Given the description of an element on the screen output the (x, y) to click on. 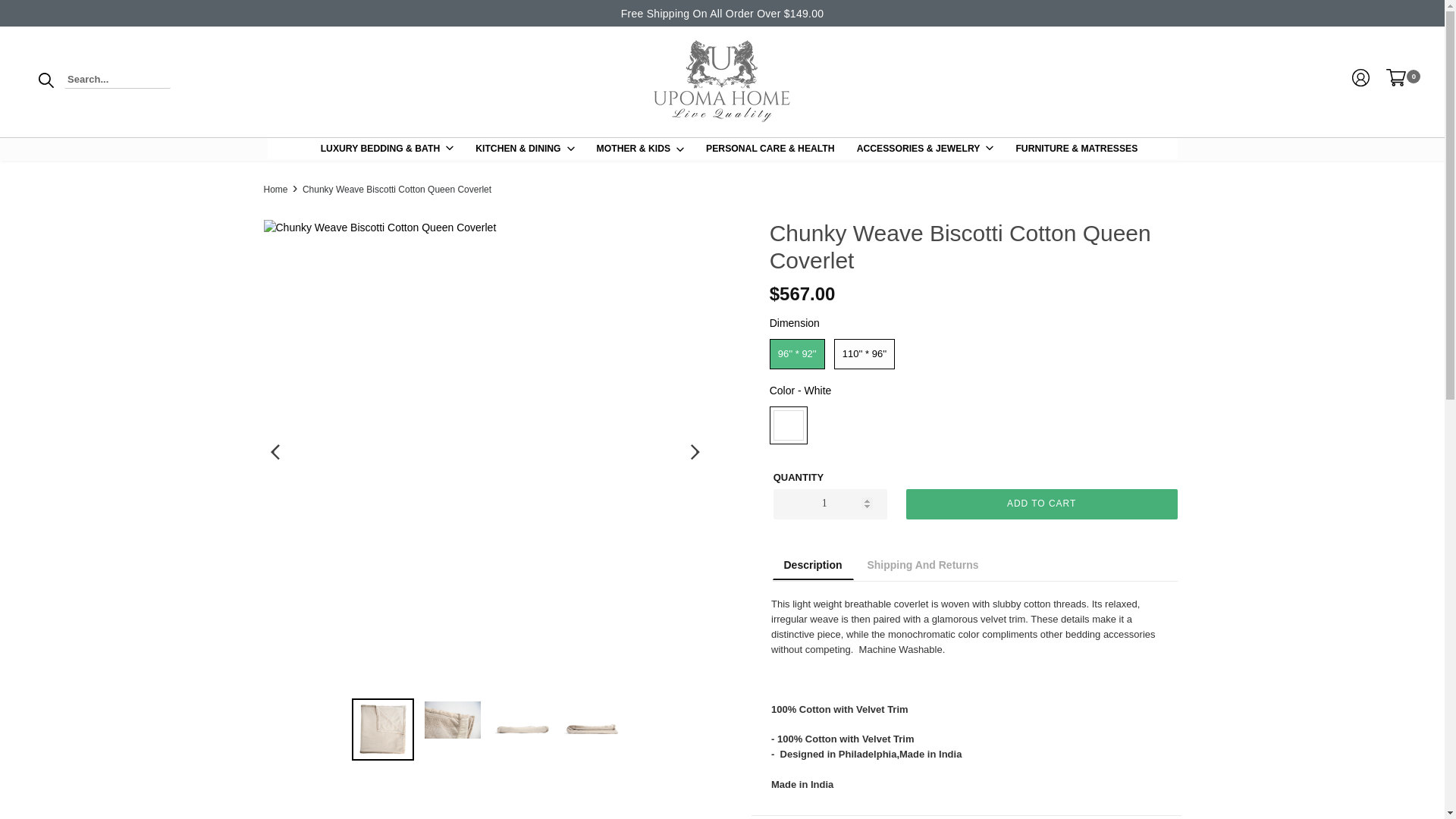
Home (275, 189)
Log in (1395, 79)
1 (1360, 79)
